Given the description of an element on the screen output the (x, y) to click on. 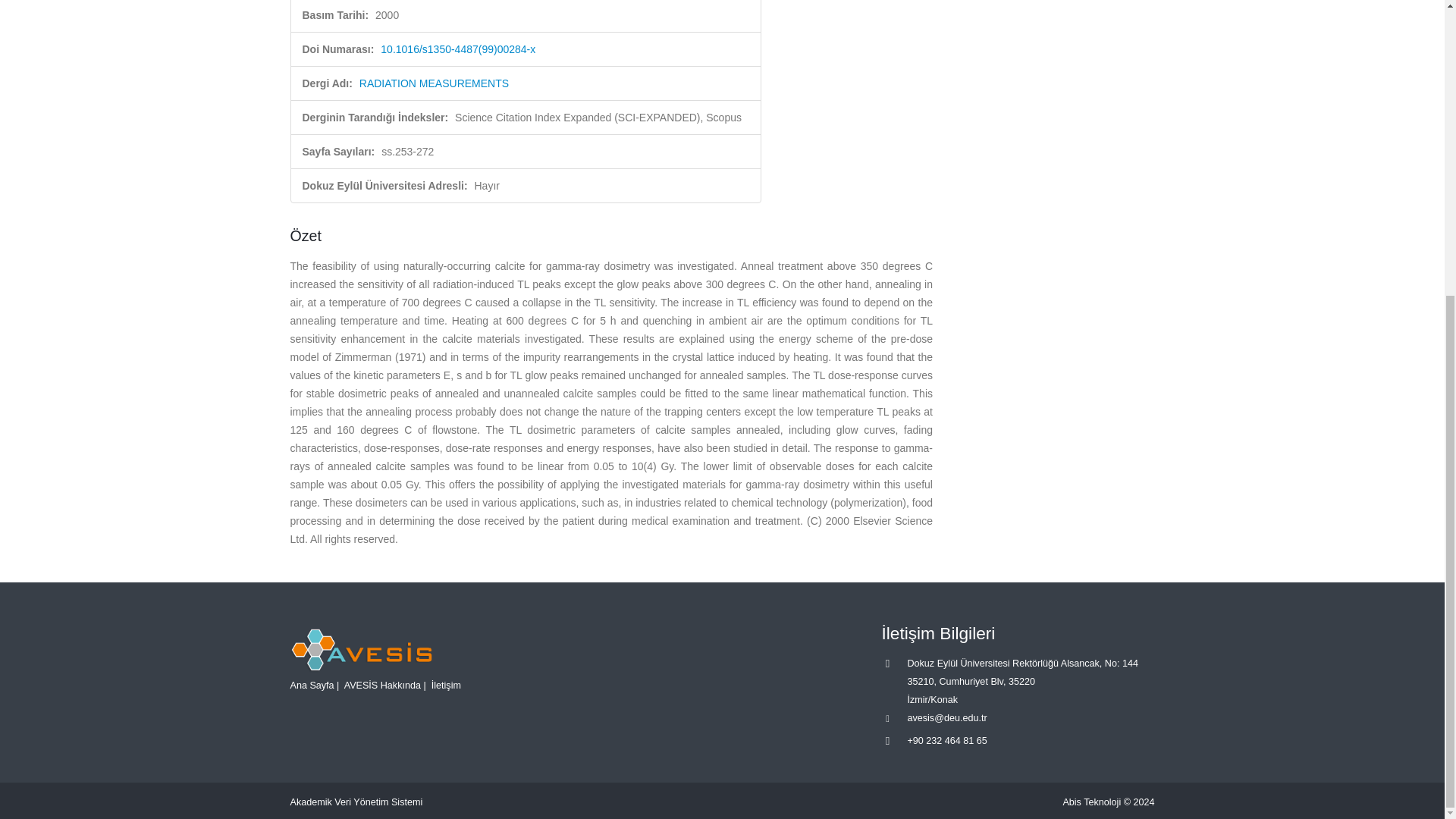
Abis Teknoloji (1091, 801)
Ana Sayfa (311, 685)
RADIATION MEASUREMENTS (433, 82)
